Given the description of an element on the screen output the (x, y) to click on. 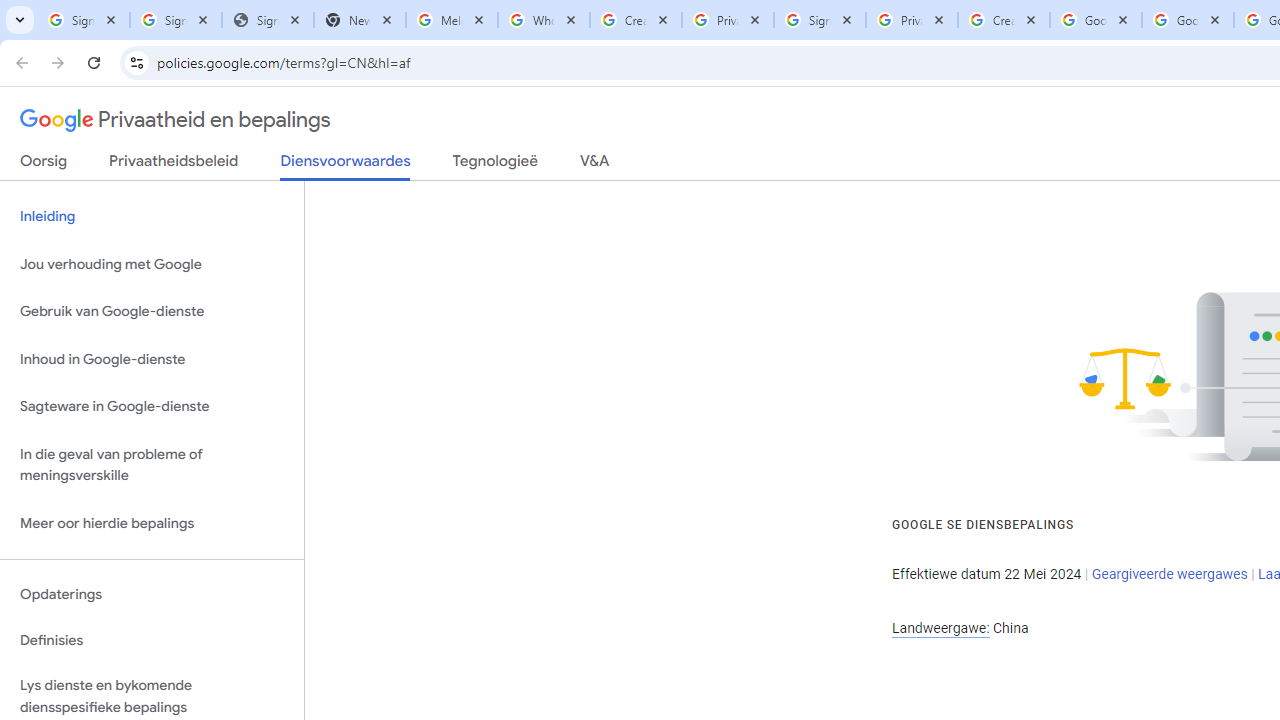
Inleiding (152, 216)
Who is my administrator? - Google Account Help (543, 20)
Geargiveerde weergawes (1169, 574)
Inhoud in Google-dienste (152, 358)
Sign in - Google Accounts (175, 20)
Sagteware in Google-dienste (152, 407)
New Tab (359, 20)
Opdaterings (152, 594)
Create your Google Account (636, 20)
